Given the description of an element on the screen output the (x, y) to click on. 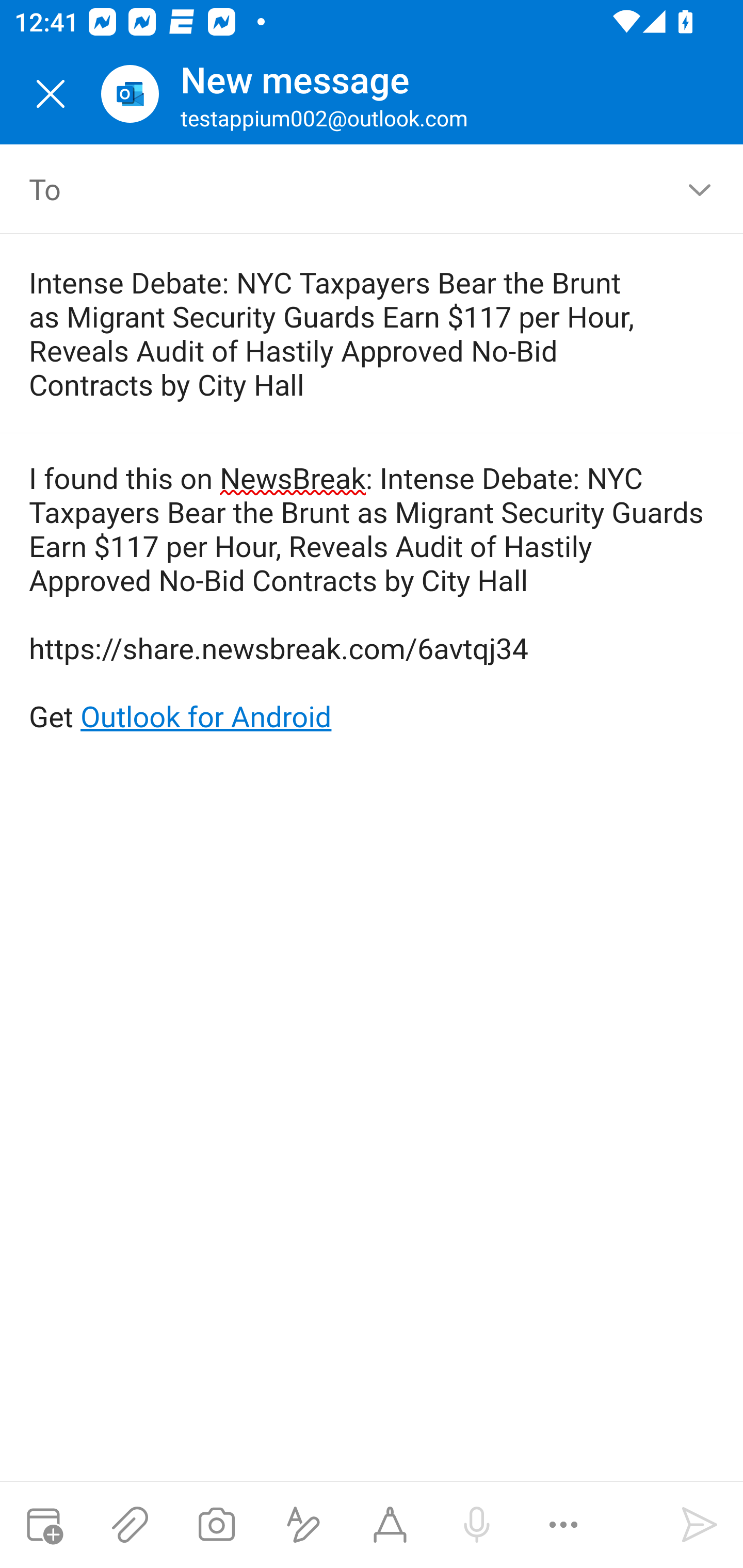
Close (50, 93)
Attach meeting (43, 1524)
Attach files (129, 1524)
Take a photo (216, 1524)
Show formatting options (303, 1524)
Start Ink compose (389, 1524)
More options (563, 1524)
Send (699, 1524)
